Given the description of an element on the screen output the (x, y) to click on. 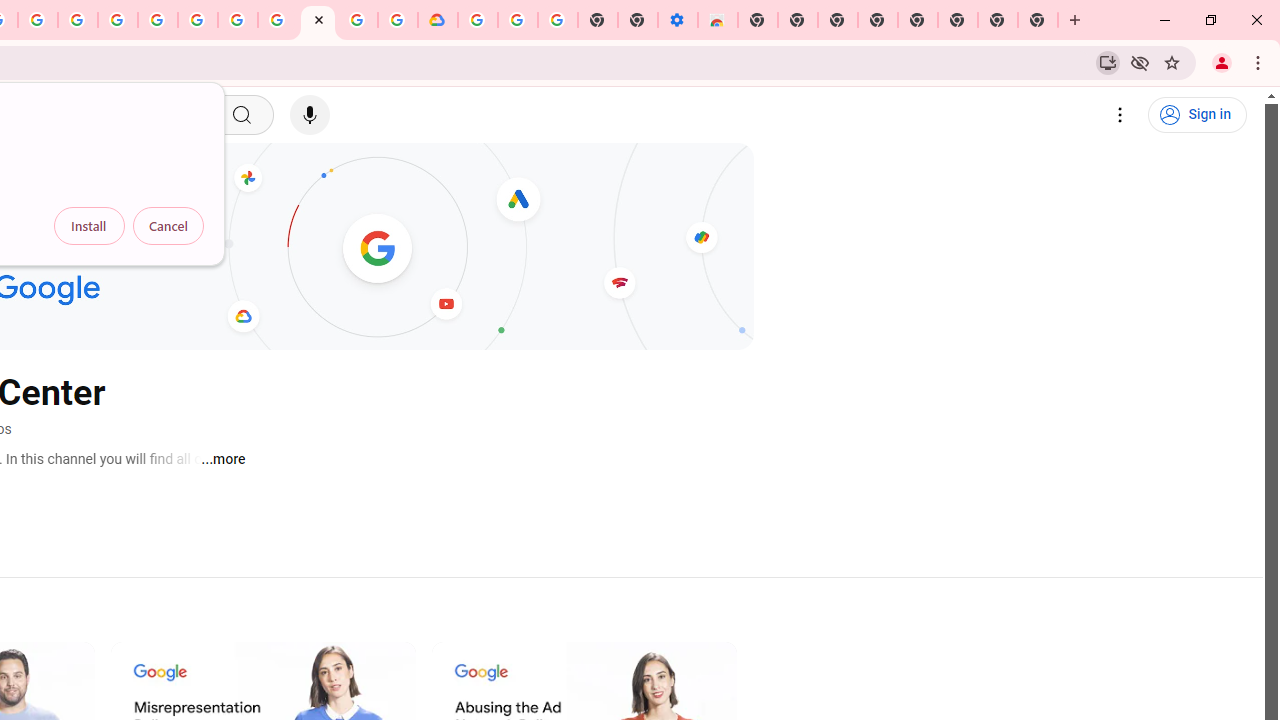
Sign in - Google Accounts (157, 20)
Settings (1119, 115)
Search with your voice (309, 115)
Chrome Web Store - Accessibility extensions (717, 20)
Sign in - Google Accounts (477, 20)
Browse the Google Chrome Community - Google Chrome Community (397, 20)
Ad Settings (118, 20)
Install YouTube (1107, 62)
New Tab (1037, 20)
